Given the description of an element on the screen output the (x, y) to click on. 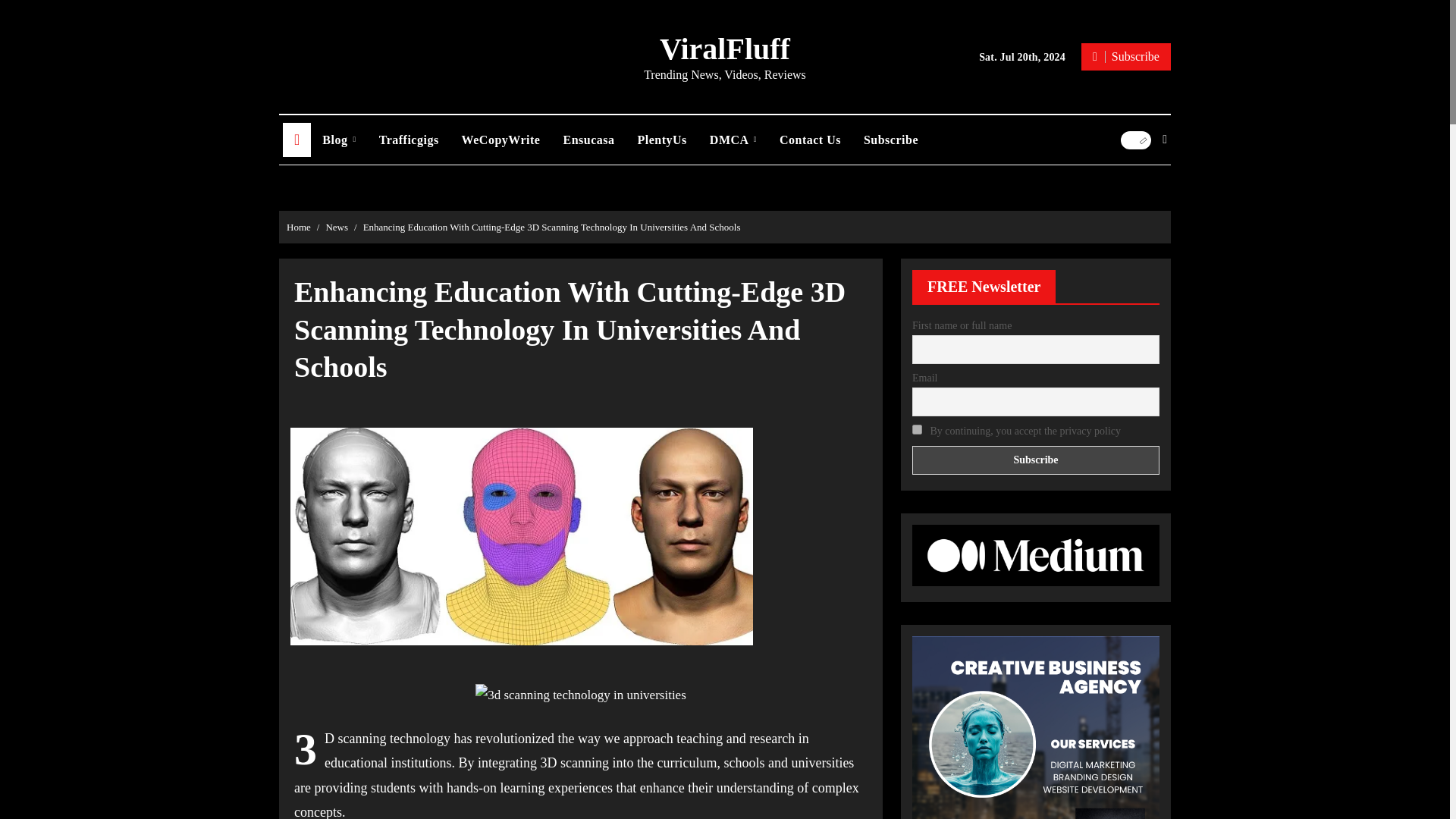
DMCA (733, 139)
Ensucasa (588, 139)
Subscribe (1035, 460)
WeCopyWrite (500, 139)
Subscribe (1125, 56)
Blog (338, 139)
Blog (338, 139)
ViralFluff (724, 48)
Contact Us (809, 139)
Ensucasa (588, 139)
WeCopyWrite (500, 139)
Trafficgigs (408, 139)
on (916, 429)
PlentyUs (662, 139)
Trafficgigs (408, 139)
